Given the description of an element on the screen output the (x, y) to click on. 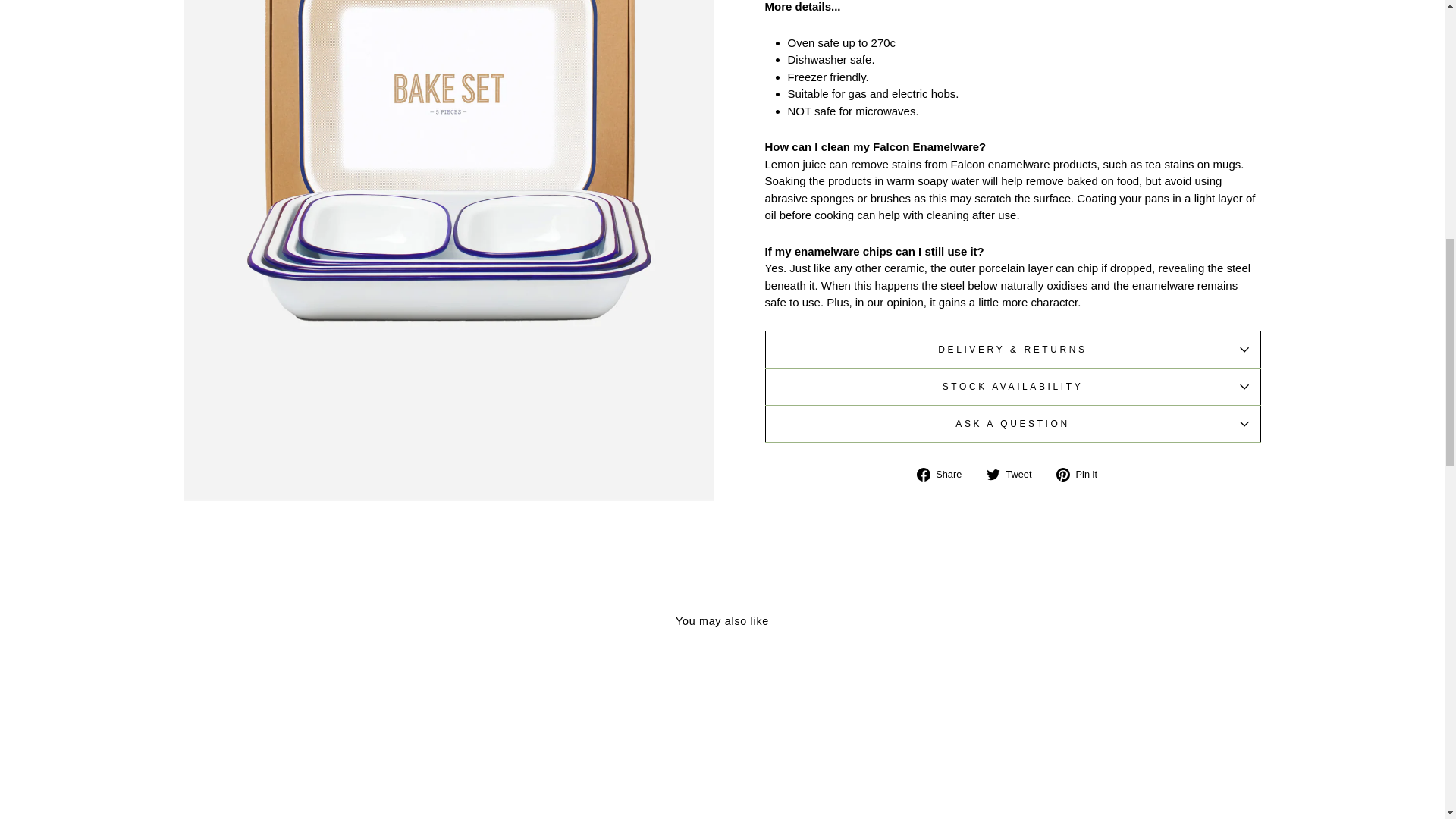
twitter (993, 474)
Tweet on Twitter (1014, 474)
Pin on Pinterest (1082, 474)
Share on Facebook (944, 474)
